Given the description of an element on the screen output the (x, y) to click on. 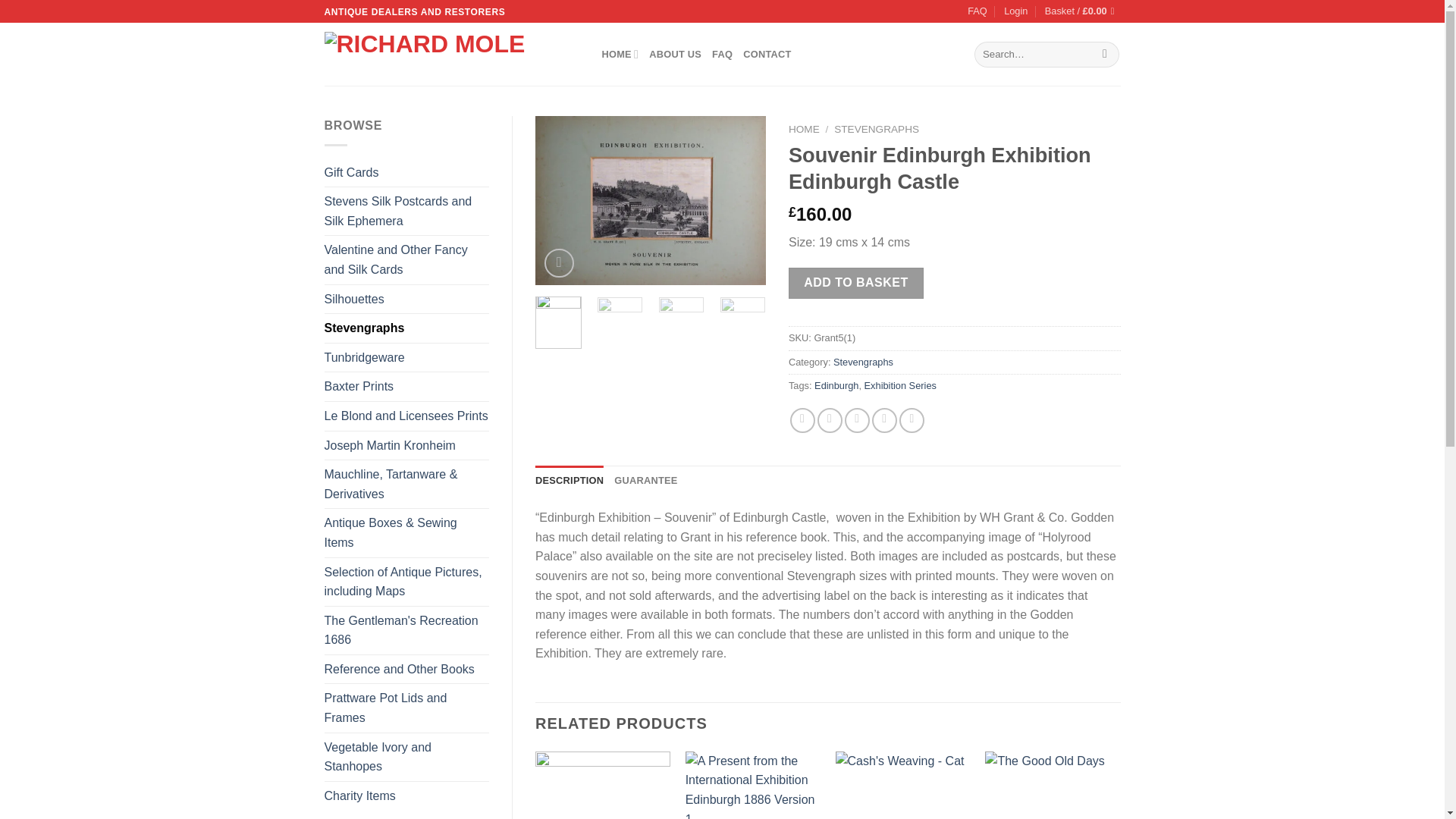
Stevens Silk Postcards and Silk Ephemera (406, 211)
Login (1015, 11)
Tunbridgeware (406, 357)
Basket (1083, 11)
CONTACT (766, 54)
Share on Facebook (802, 420)
Gift Cards (406, 172)
Share on LinkedIn (911, 420)
Stevengraphs (406, 328)
ABOUT US (675, 54)
Share on Twitter (829, 420)
HOME (620, 54)
Search (1105, 54)
Silhouettes (406, 299)
Zoom (558, 263)
